Given the description of an element on the screen output the (x, y) to click on. 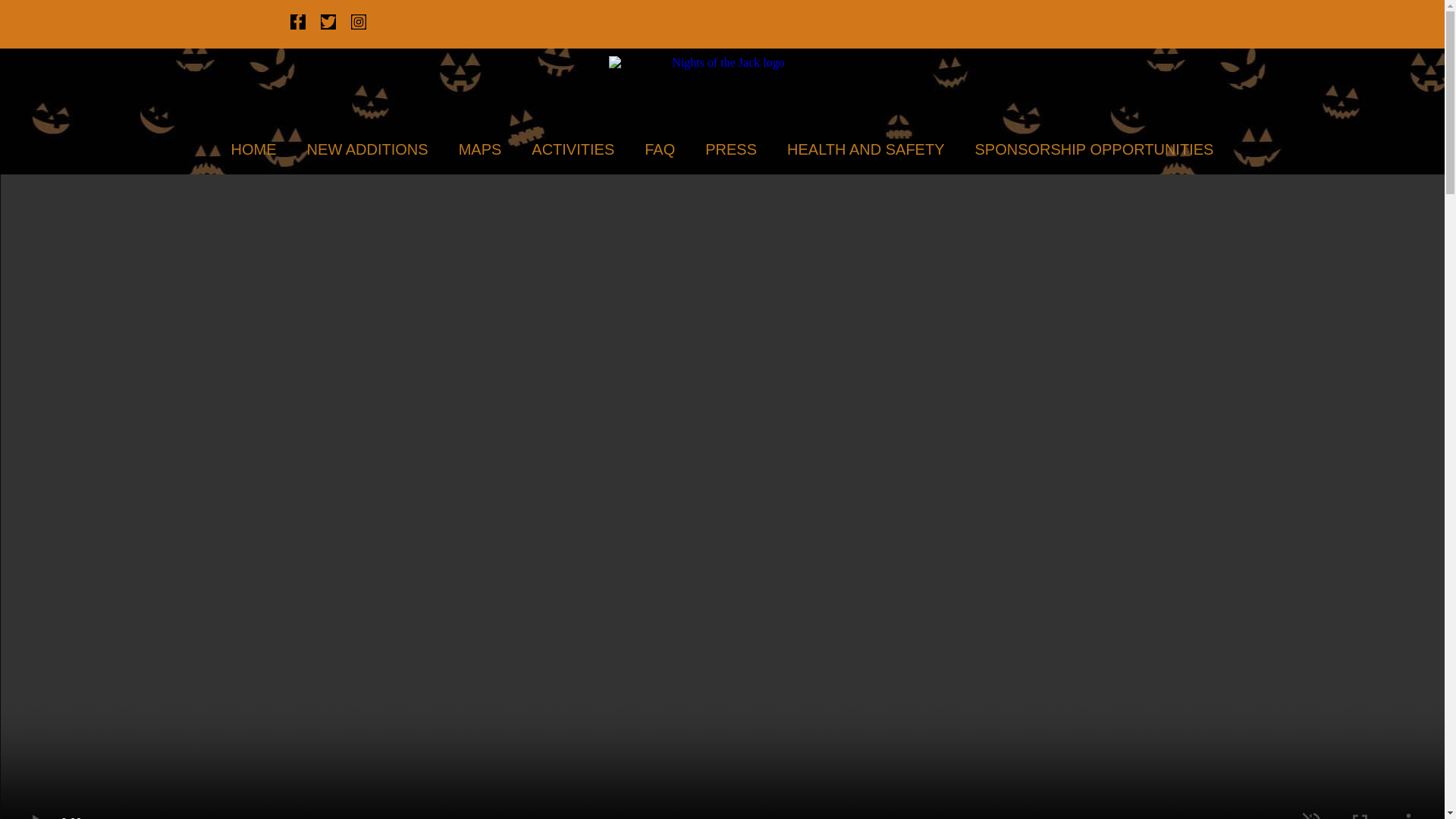
NEW ADDITIONS (368, 149)
HEALTH AND SAFETY (865, 149)
HOME (253, 149)
SPONSORSHIP OPPORTUNITIES (1093, 149)
FAQ (659, 149)
PRESS (730, 149)
MAPS (480, 149)
ACTIVITIES (572, 149)
